Given the description of an element on the screen output the (x, y) to click on. 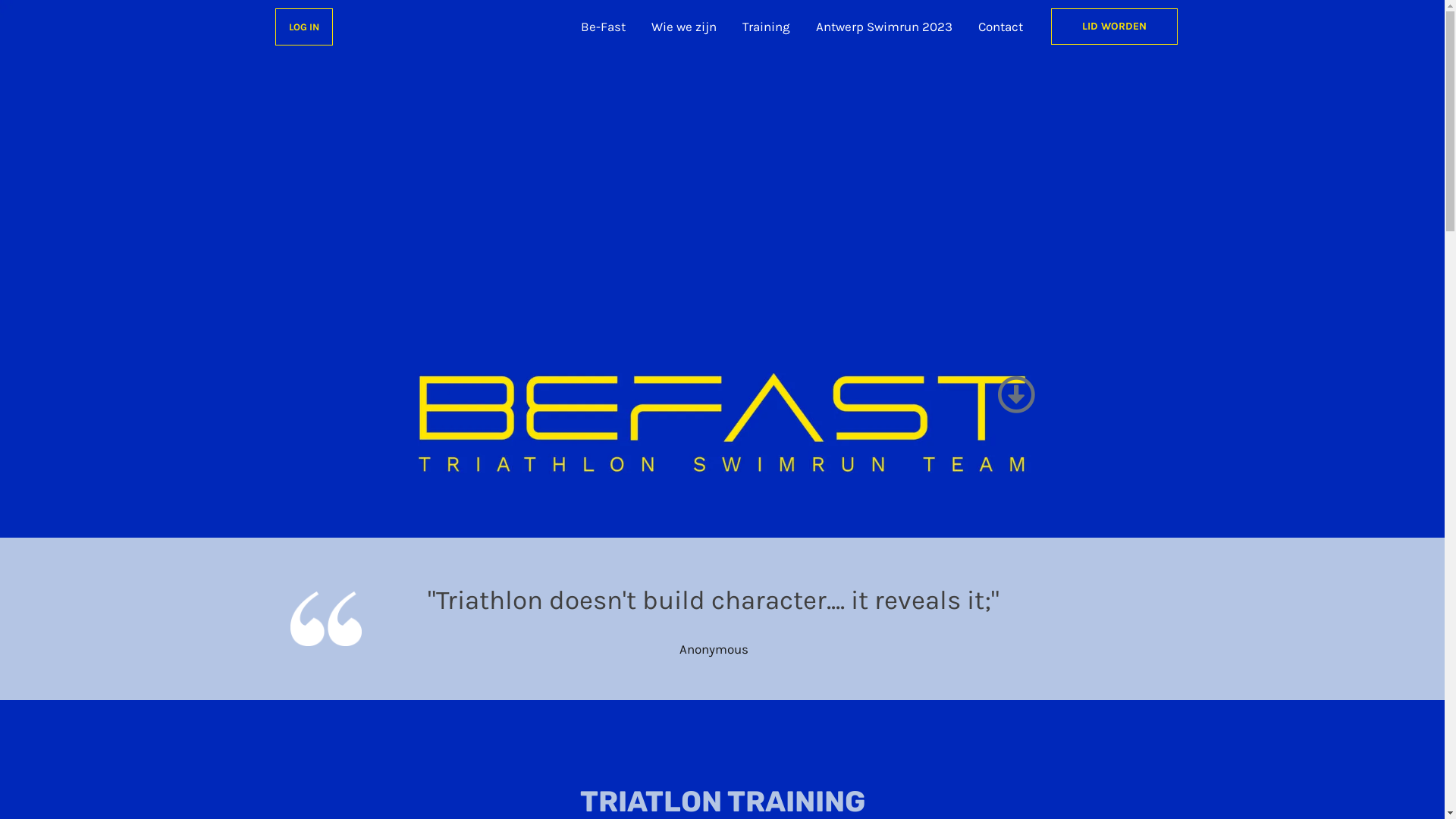
LOG IN Element type: text (303, 25)
Antwerp Swimrun 2023 Element type: text (883, 26)
Be-Fast Element type: text (602, 26)
LID WORDEN Element type: text (1114, 26)
Contact Element type: text (999, 26)
Training Element type: text (766, 26)
Wie we zijn Element type: text (683, 26)
